Given the description of an element on the screen output the (x, y) to click on. 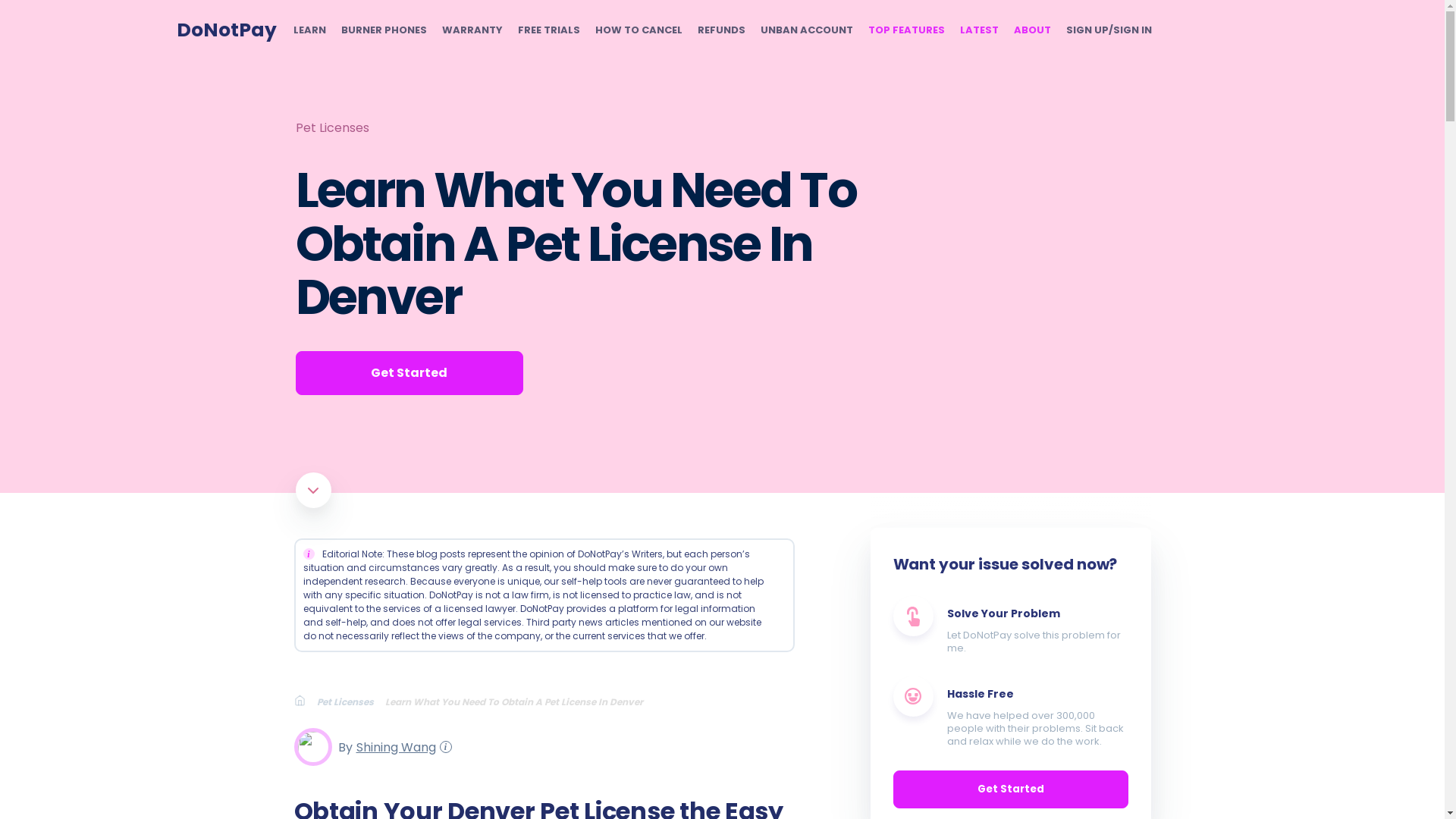
Pet Licenses (351, 700)
LATEST (978, 29)
TOP FEATURES (905, 29)
ABOUT (1031, 29)
WARRANTY (471, 29)
Get Started (408, 372)
LEARN (308, 29)
Pet Licenses (332, 127)
UNBAN ACCOUNT (805, 29)
Shining Wang (393, 746)
HOW TO CANCEL (637, 29)
DoNotPay (226, 29)
FREE TRIALS (547, 29)
BURNER PHONES (383, 29)
REFUNDS (721, 29)
